Given the description of an element on the screen output the (x, y) to click on. 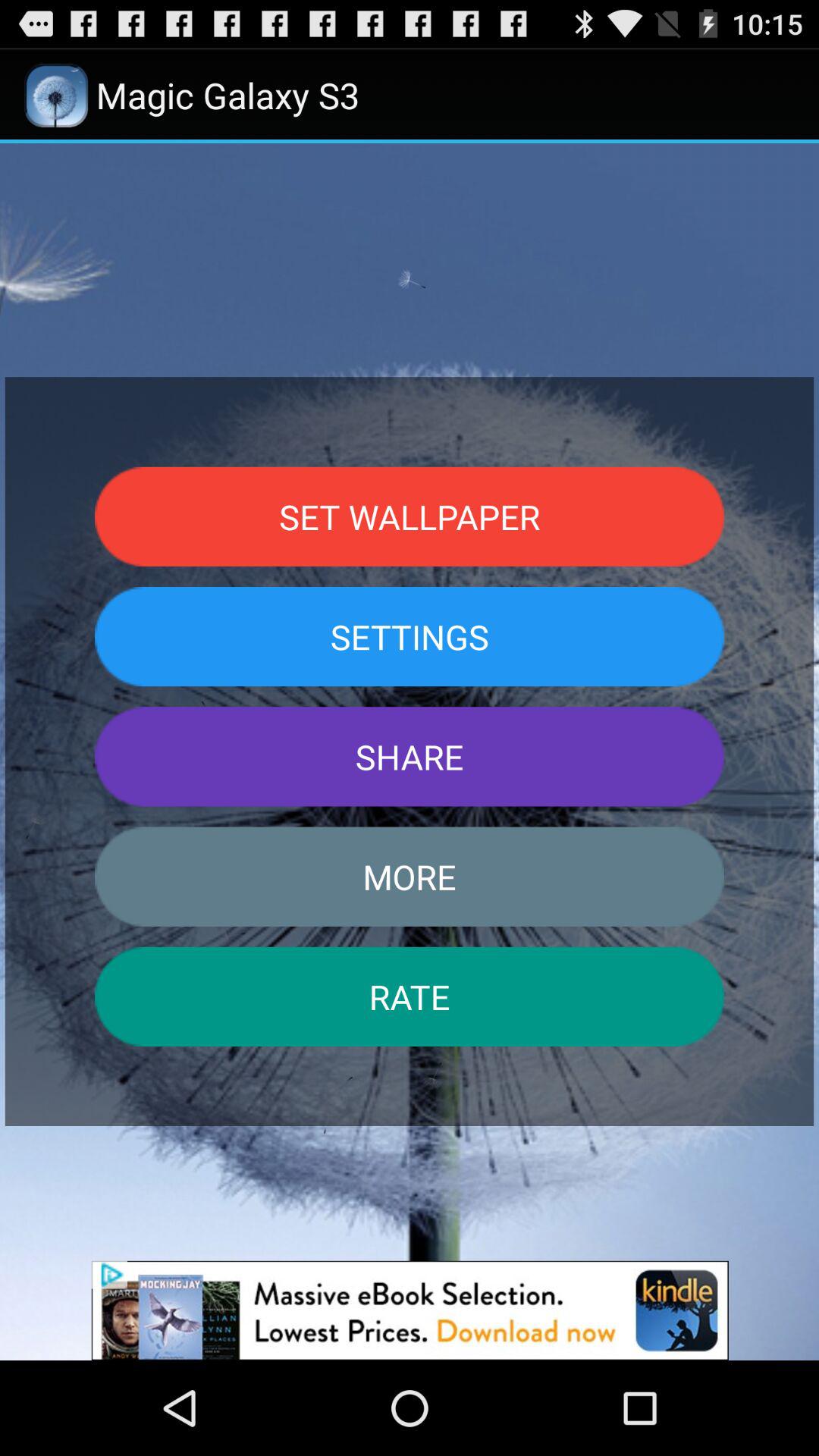
launch the button below the share button (409, 876)
